Given the description of an element on the screen output the (x, y) to click on. 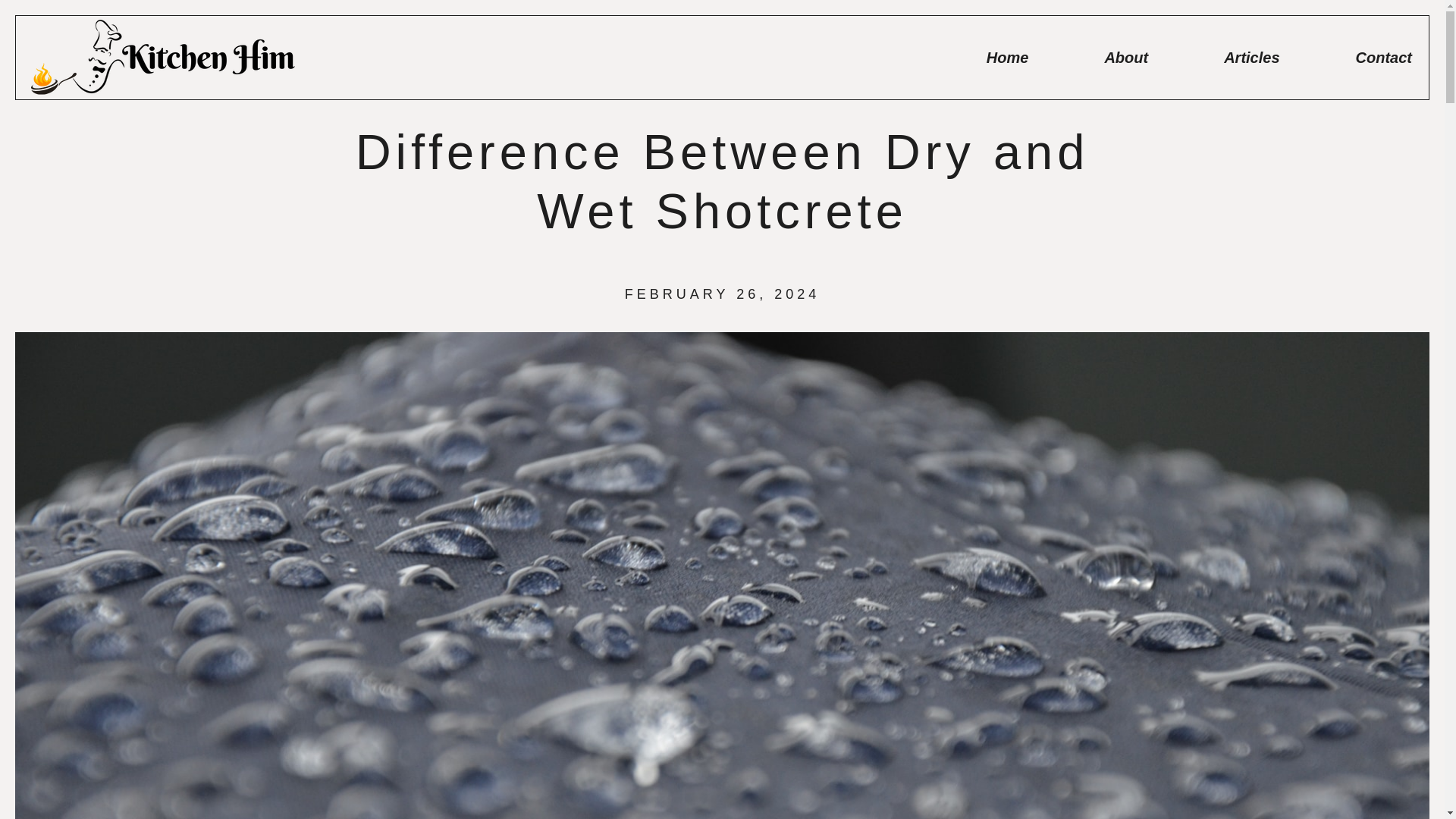
Contact (1383, 57)
About (1125, 57)
Home (1008, 57)
Articles (1251, 57)
